Given the description of an element on the screen output the (x, y) to click on. 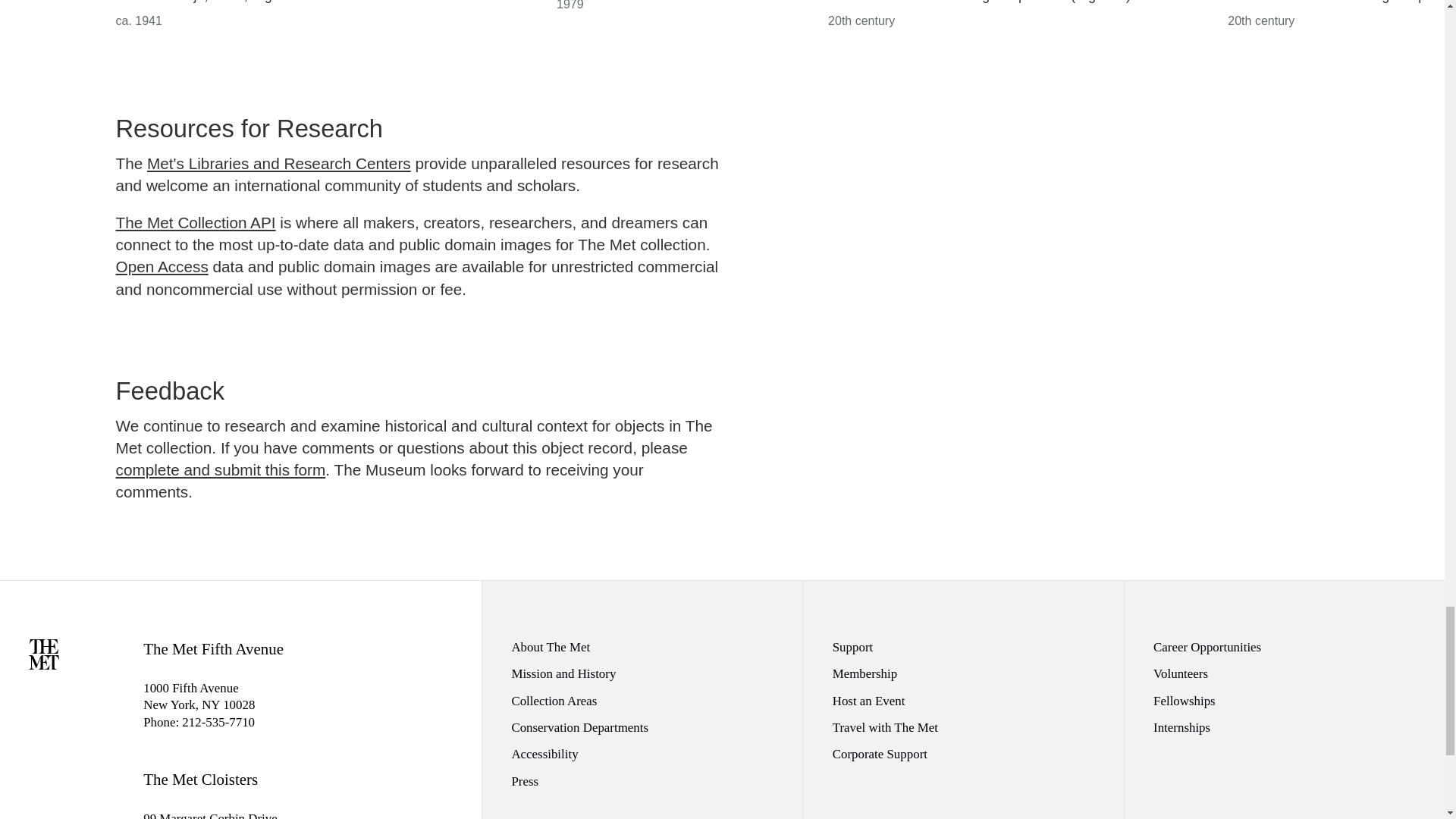
Homepage (44, 664)
